Given the description of an element on the screen output the (x, y) to click on. 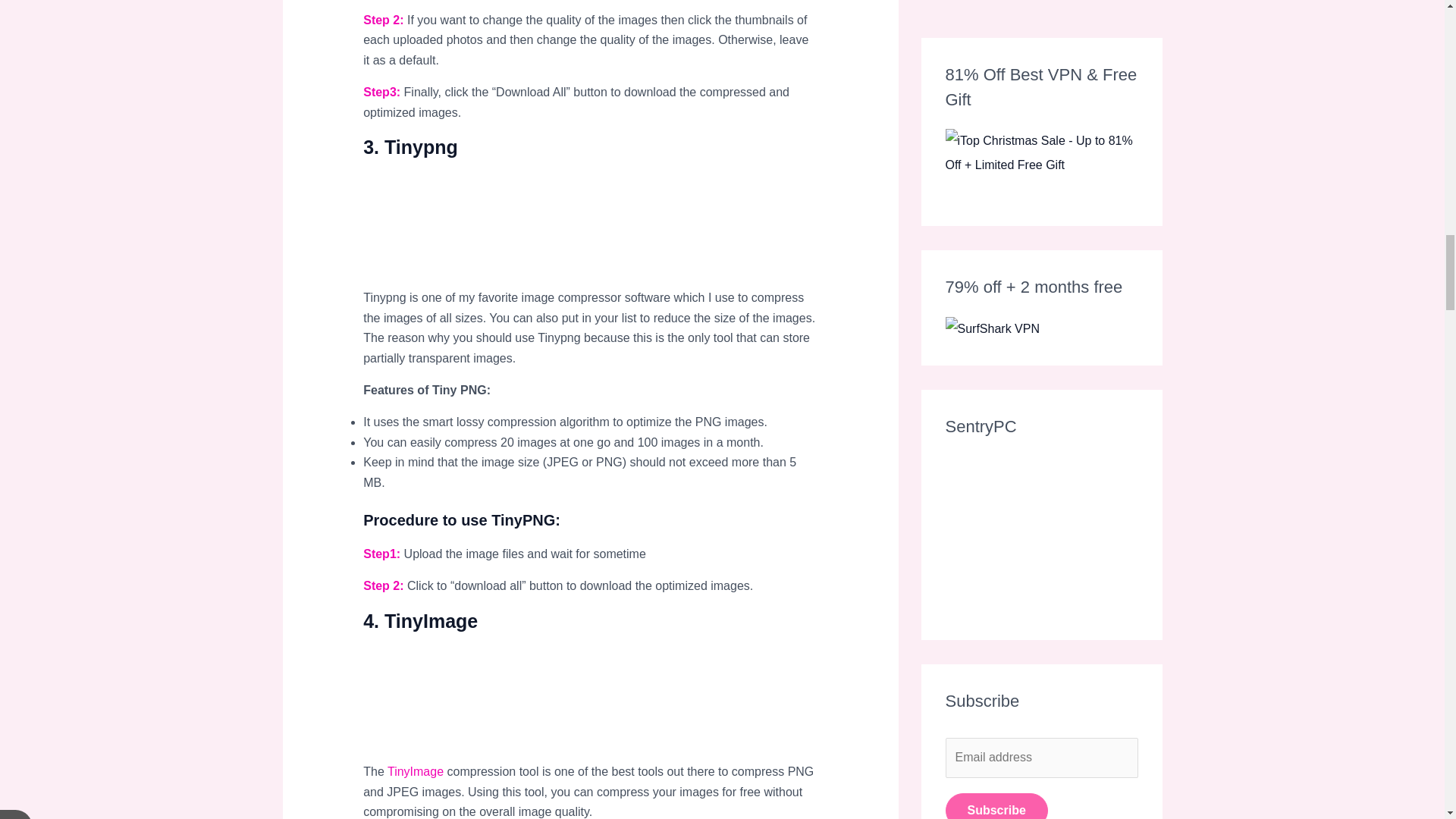
source: imgur.com (476, 231)
source: imgur.com (476, 705)
